Given the description of an element on the screen output the (x, y) to click on. 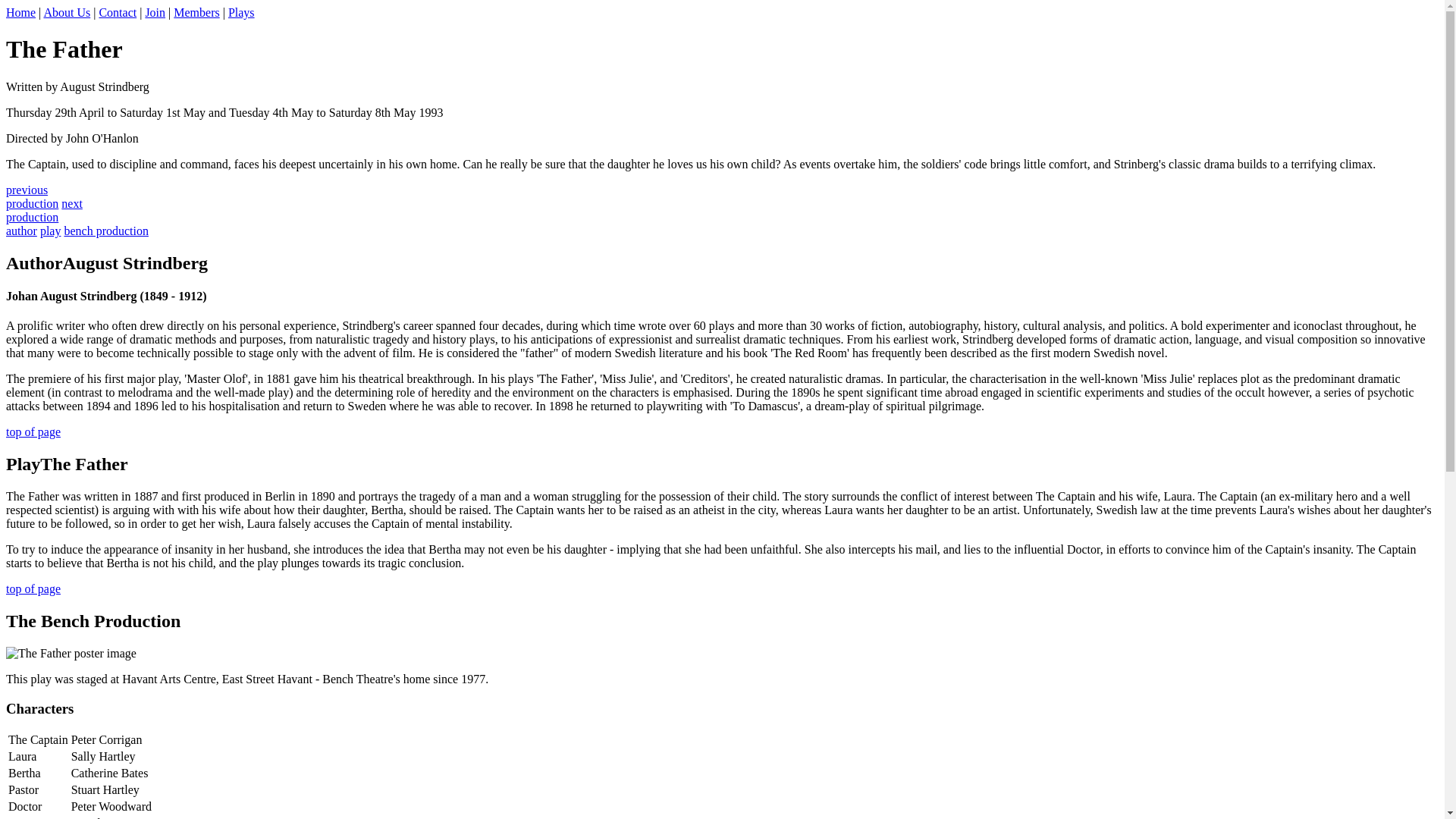
Plays (241, 11)
PlayThe Father (66, 464)
bench production (31, 196)
top of page (106, 230)
play (33, 431)
author (50, 230)
Characters (21, 230)
Contact (39, 708)
top of page (117, 11)
Author (33, 588)
About Us (33, 262)
Home (66, 11)
Members (19, 11)
